Given the description of an element on the screen output the (x, y) to click on. 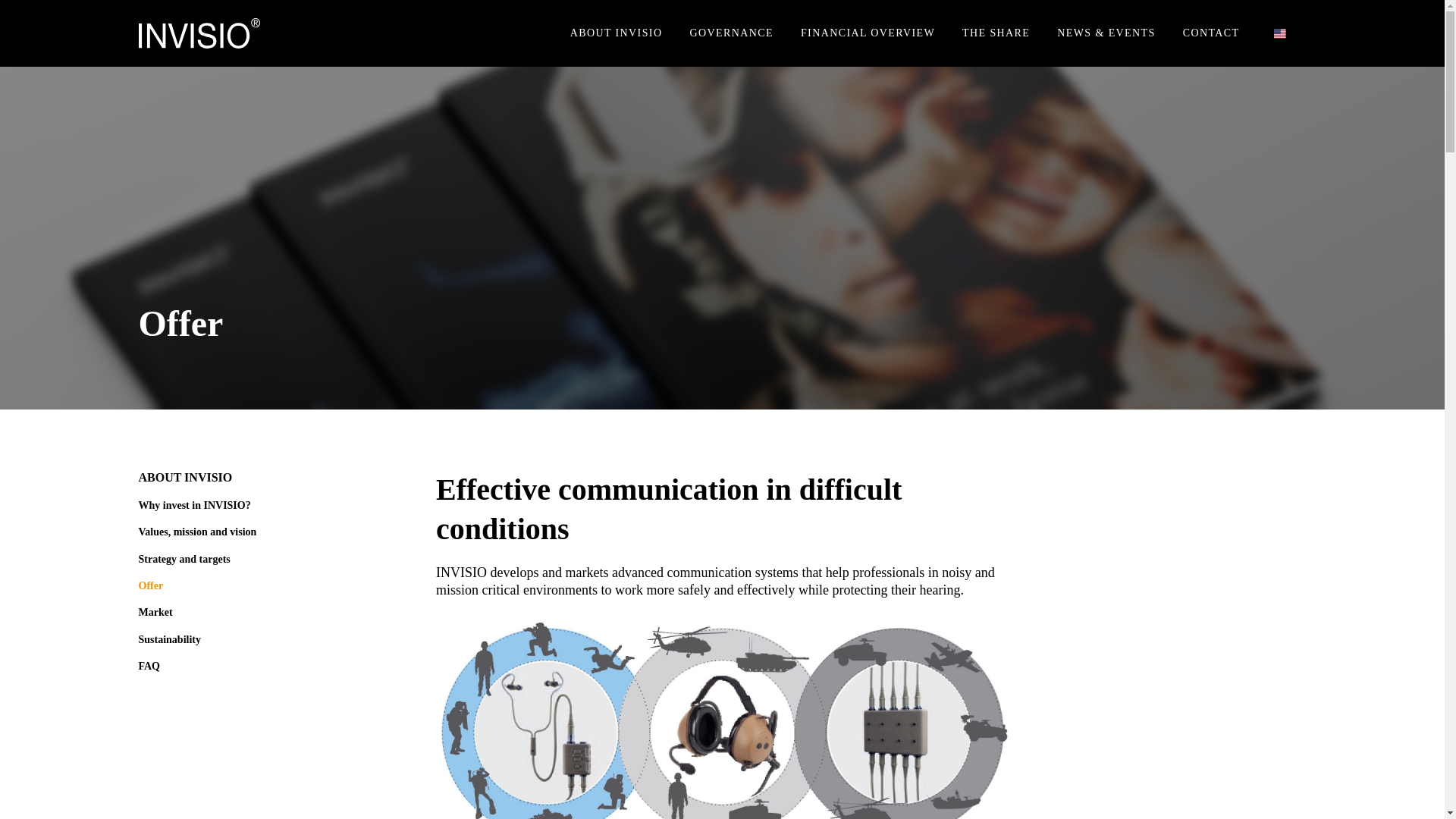
GOVERNANCE (730, 33)
THE SHARE (996, 33)
ABOUT INVISIO (616, 33)
FINANCIAL OVERVIEW (868, 33)
